Given the description of an element on the screen output the (x, y) to click on. 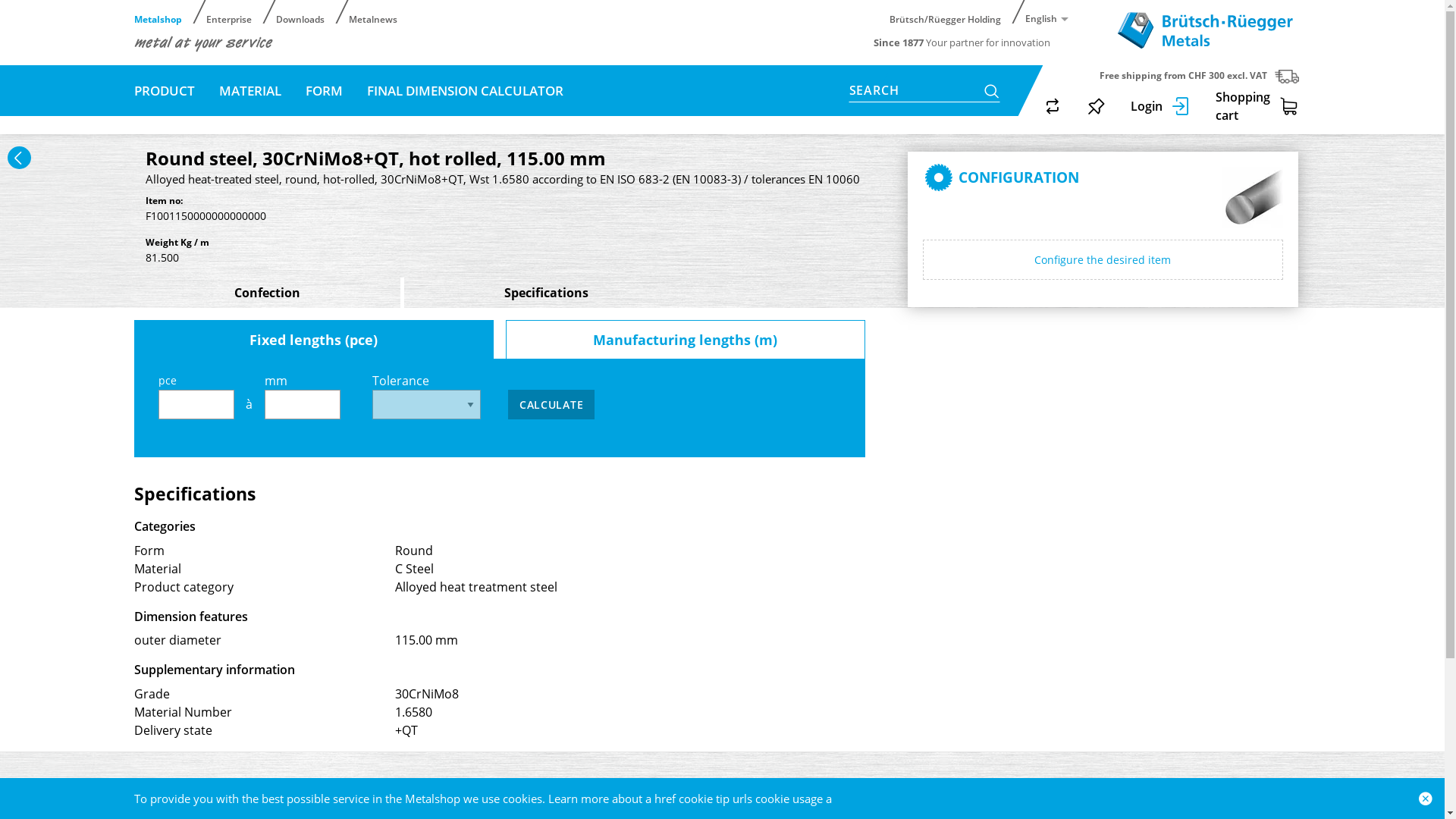
Fixed lengths (pce) Element type: text (313, 339)
MATERIAL Element type: text (249, 90)
CALCULATE Element type: text (551, 404)
Downloads Element type: text (306, 12)
Manufacturing lengths (m) Element type: text (685, 339)
Metalnews Element type: text (378, 12)
PRODUCT Element type: text (163, 90)
Specifications Element type: text (546, 292)
Confection Element type: text (268, 292)
Login Element type: text (1159, 106)
FINAL DIMENSION CALCULATOR Element type: text (464, 90)
Watch list Element type: hover (1095, 106)
Shopping cart Element type: text (1256, 106)
SEARCH Element type: text (923, 92)
FORM Element type: text (323, 90)
Enterprise Element type: text (234, 12)
Product comparison Element type: hover (1051, 106)
back Element type: hover (19, 157)
Metalshop Element type: text (163, 12)
